Given the description of an element on the screen output the (x, y) to click on. 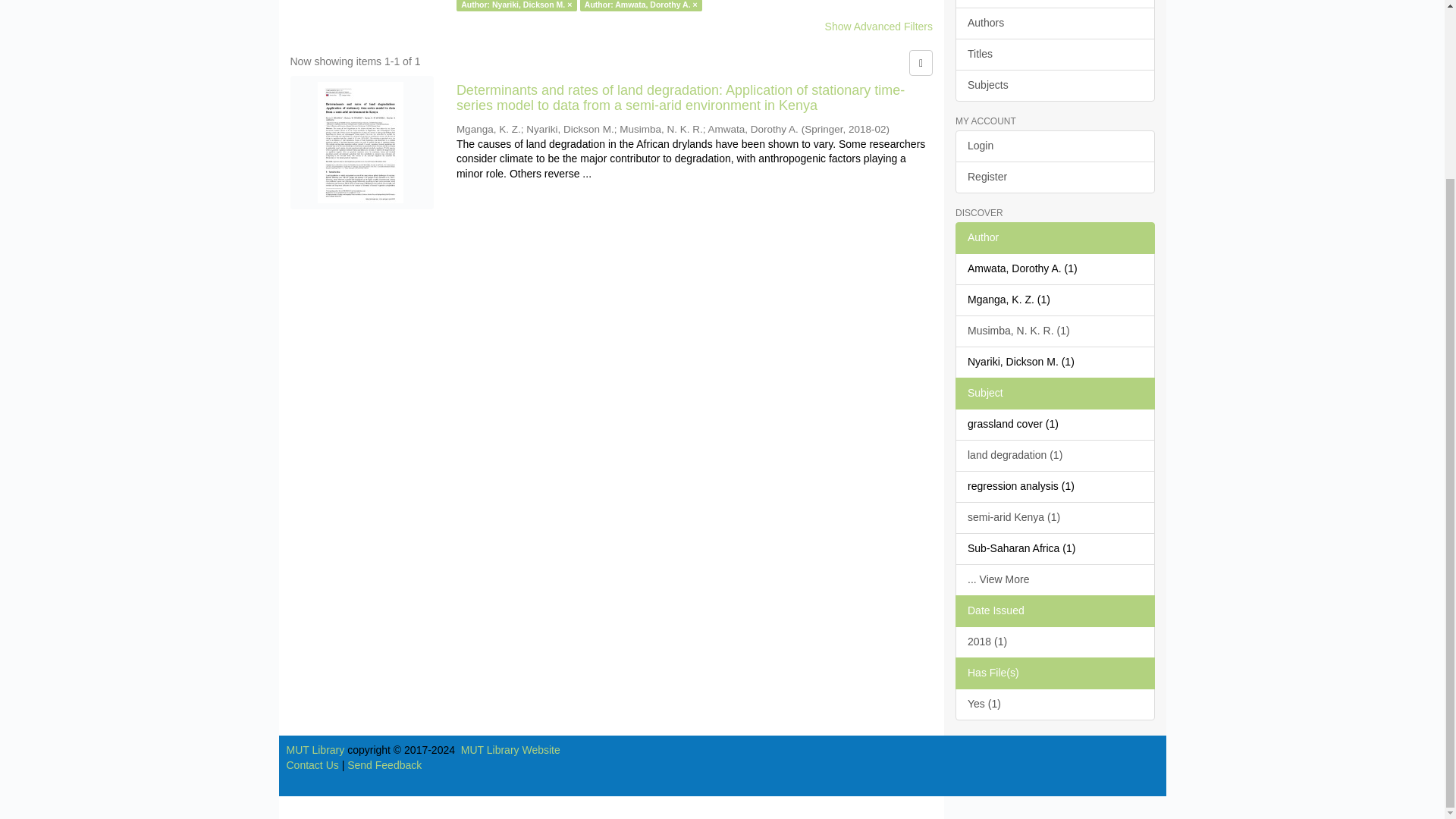
Show Advanced Filters (879, 26)
